Given the description of an element on the screen output the (x, y) to click on. 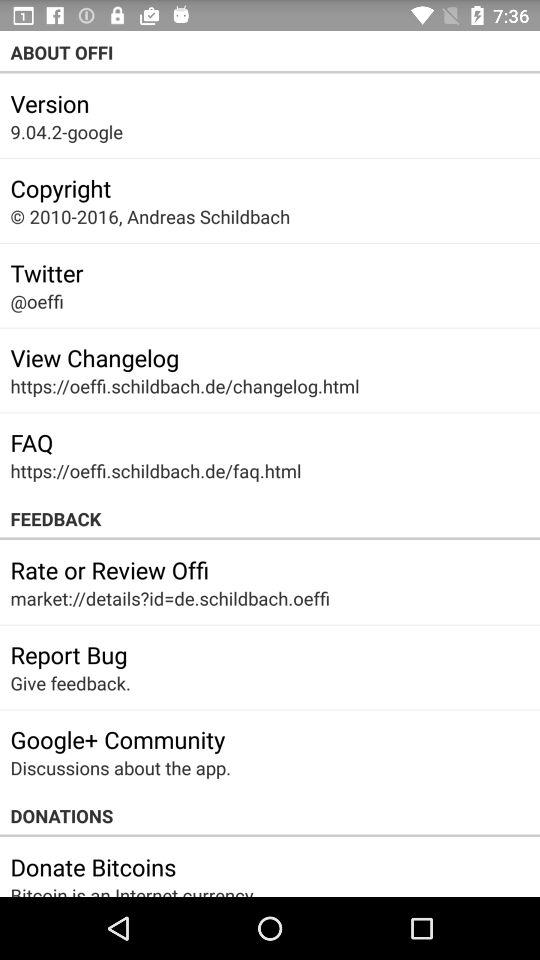
turn off the icon below version (66, 131)
